Given the description of an element on the screen output the (x, y) to click on. 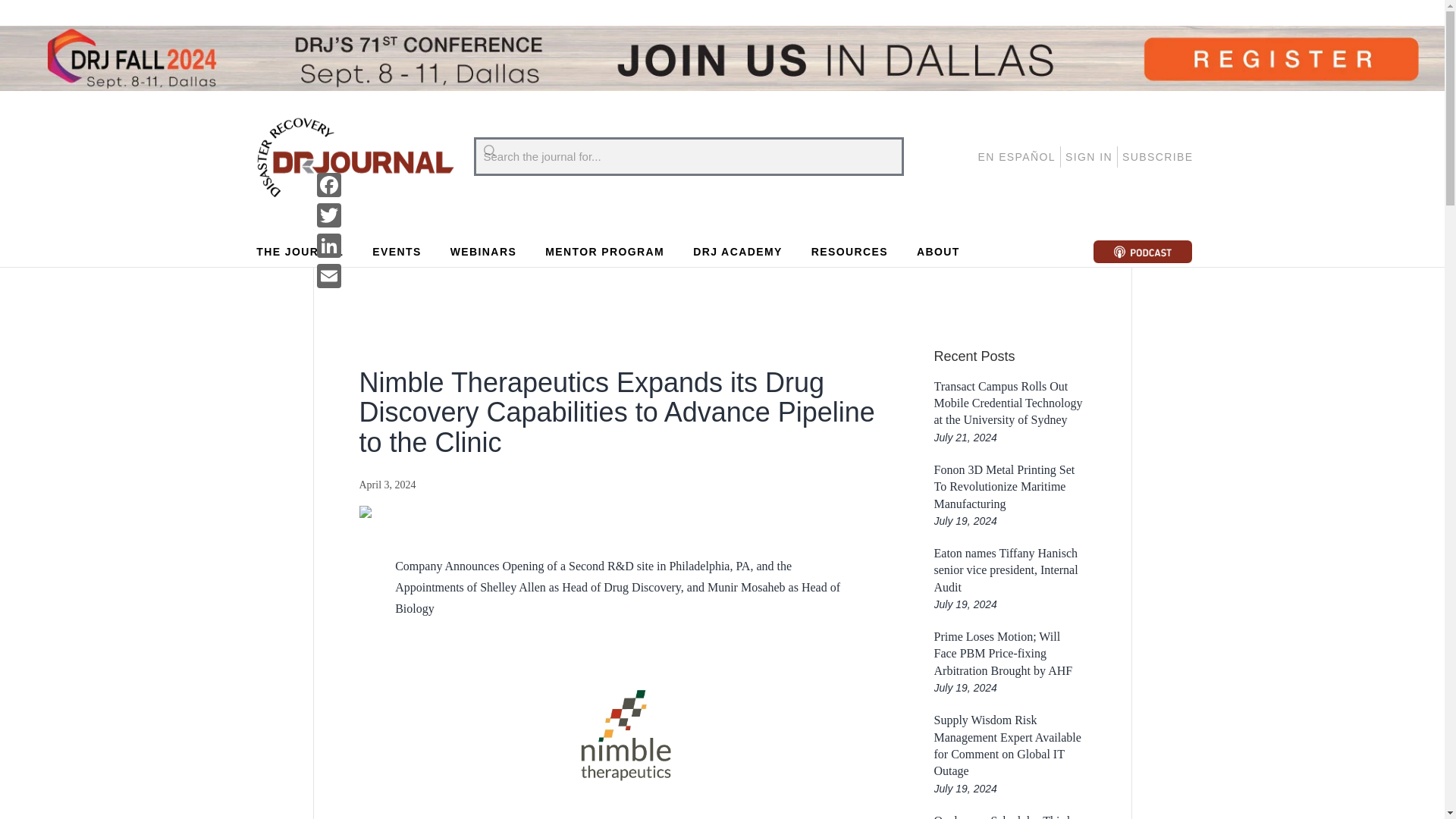
SUBSCRIBE (1158, 156)
EVENTS (396, 251)
WEBINARS (482, 251)
Search the journal for... (687, 156)
MENTOR PROGRAM (604, 251)
THE JOURNAL (299, 251)
SIGN IN (1089, 156)
DRJ ACADEMY (737, 251)
